Given the description of an element on the screen output the (x, y) to click on. 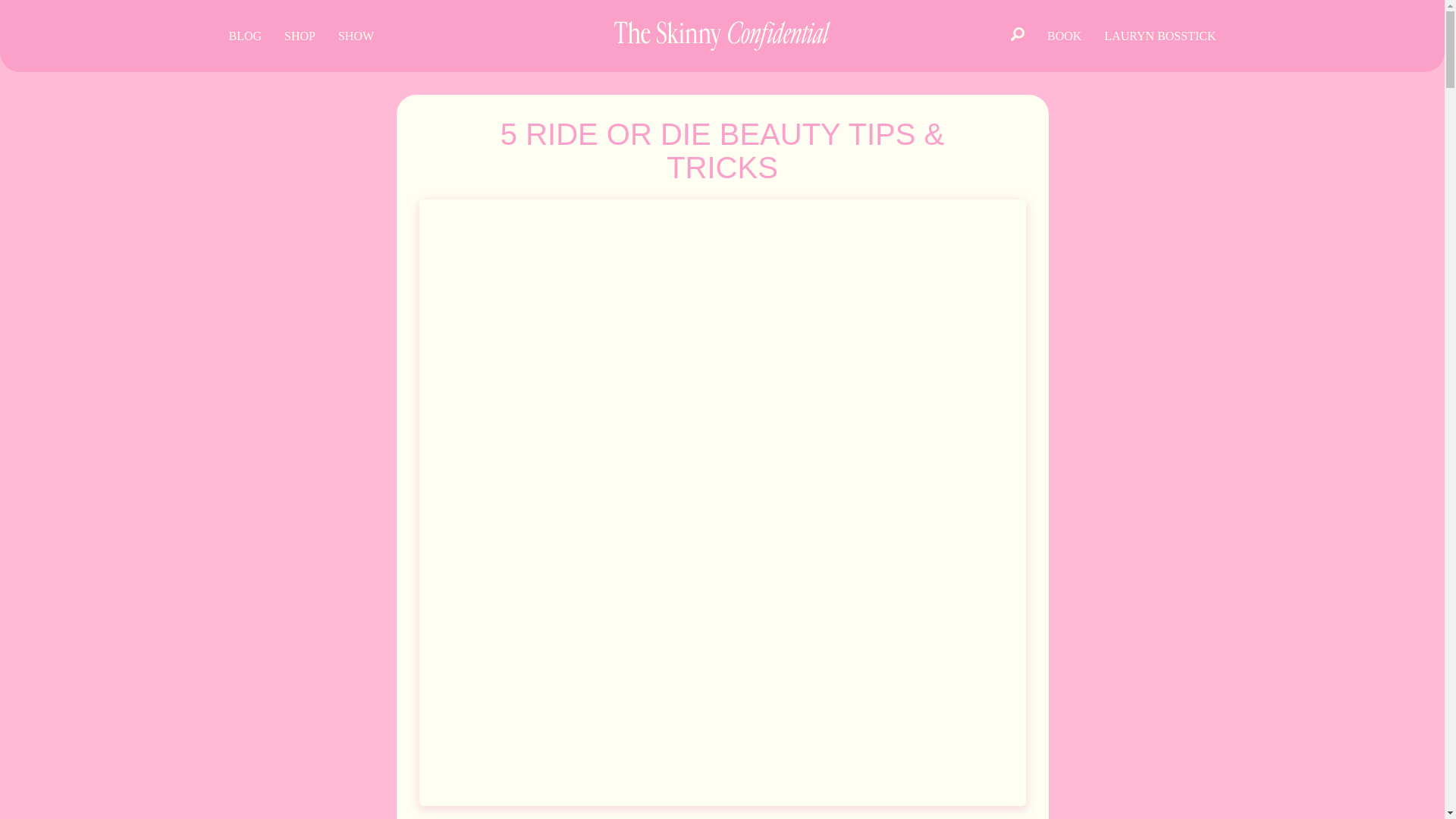
return to home page (721, 35)
LAURYN BOSSTICK (1160, 36)
open search (1016, 35)
